Given the description of an element on the screen output the (x, y) to click on. 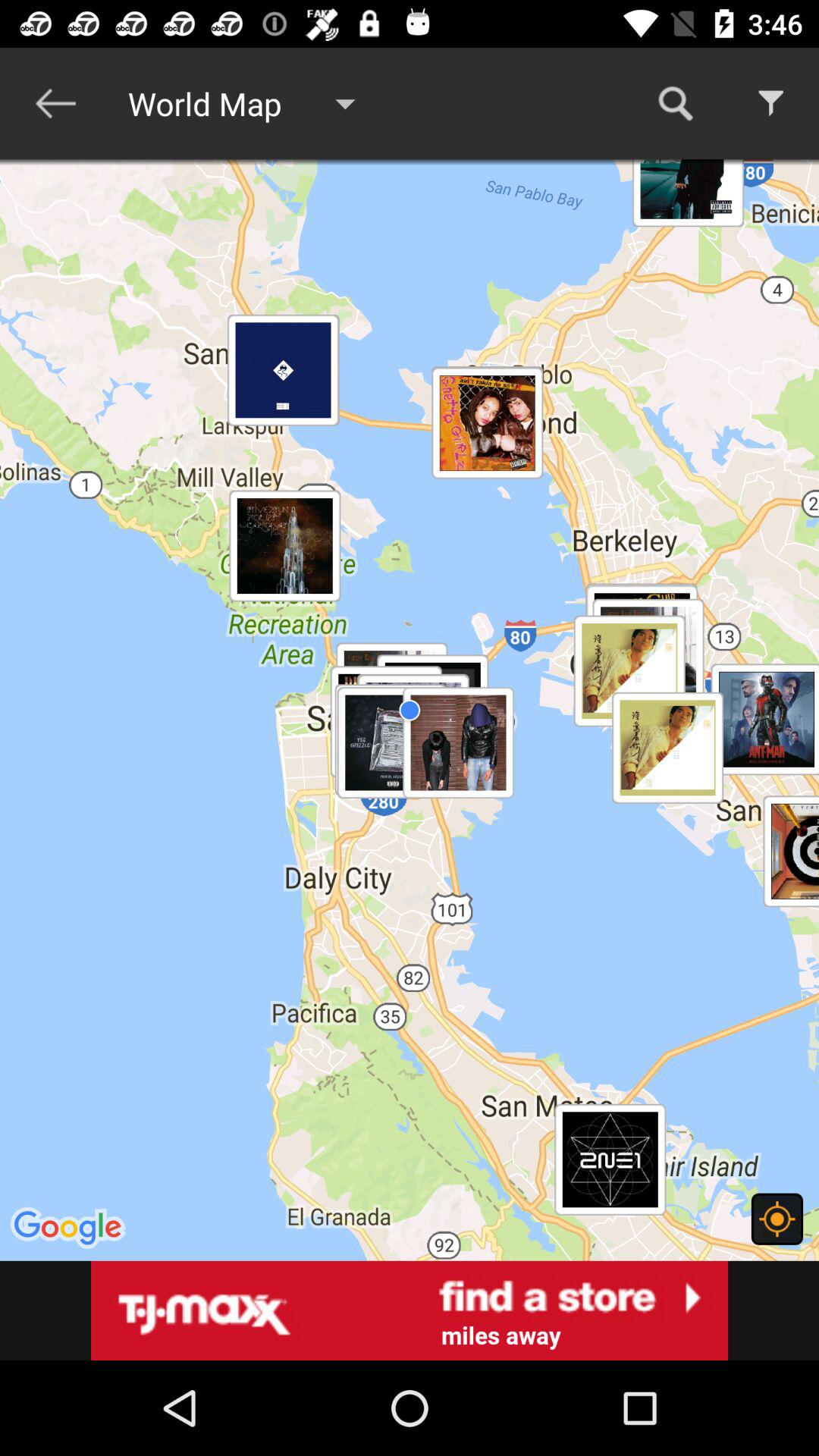
location (777, 1218)
